Given the description of an element on the screen output the (x, y) to click on. 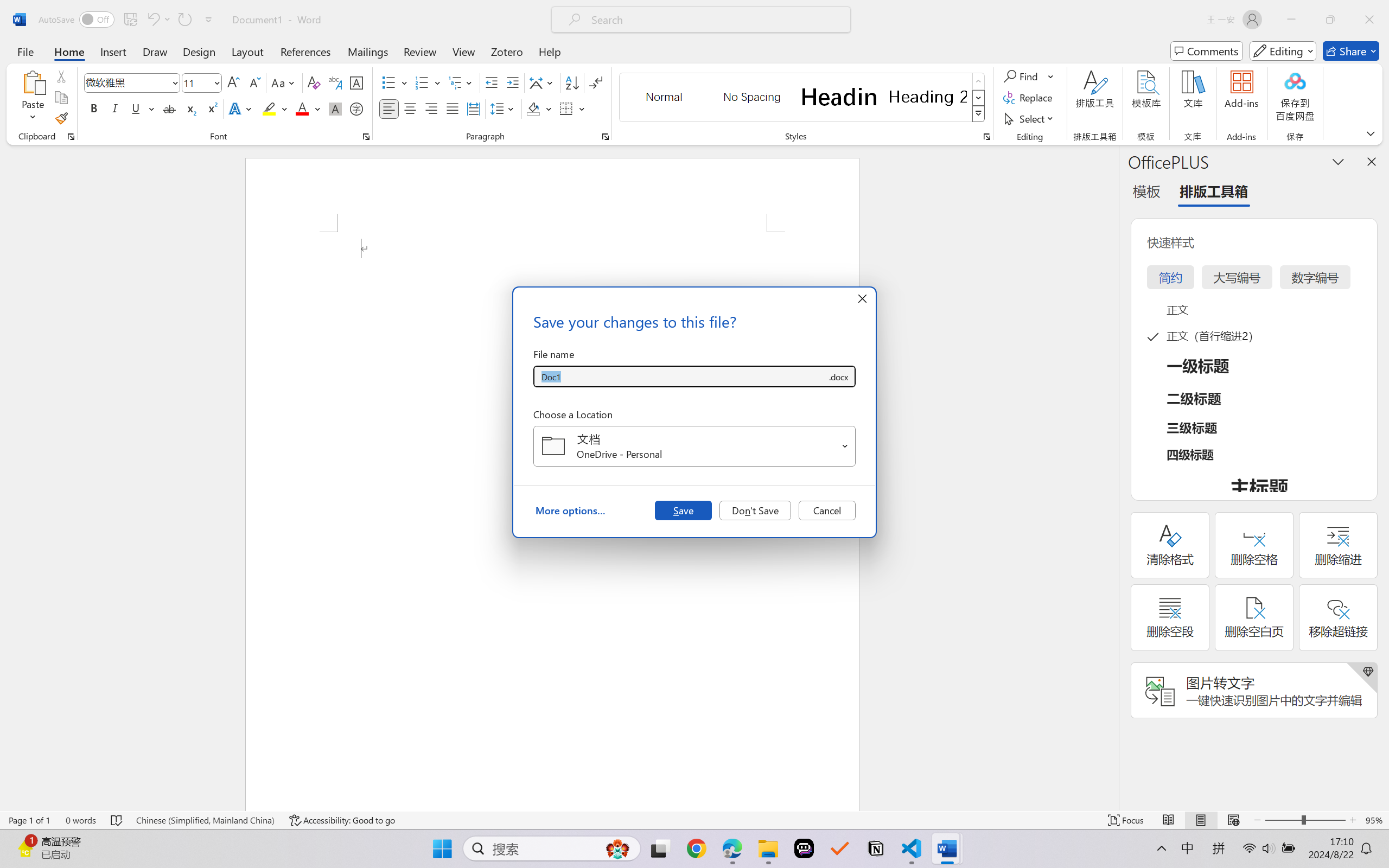
Reject Change (594, 51)
Thesaurus... (45, 62)
Accept Change (570, 51)
Reviewing Pane (635, 77)
Accept (570, 62)
End Review (677, 62)
New Comment (385, 62)
Translate (167, 62)
